Given the description of an element on the screen output the (x, y) to click on. 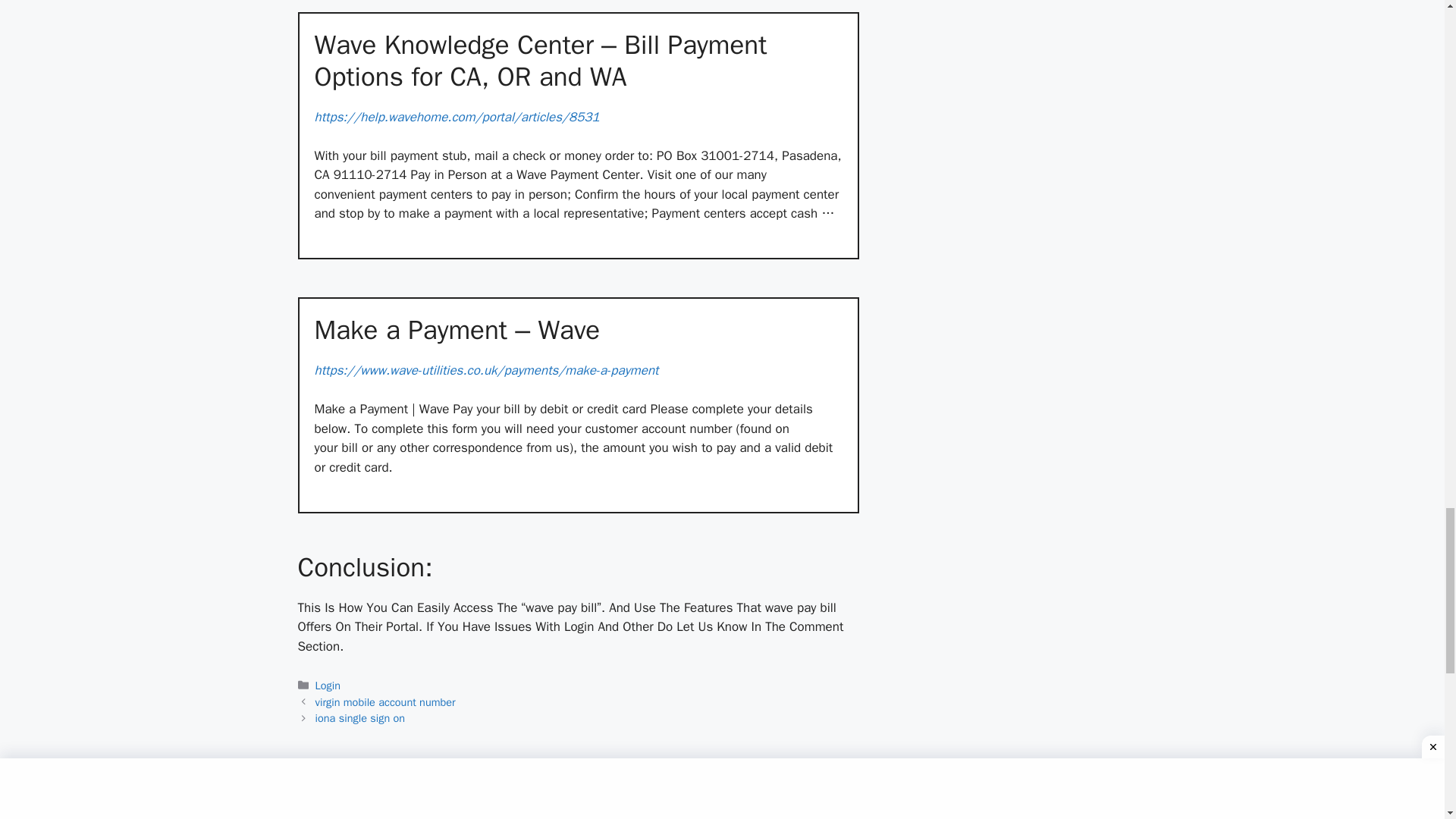
iona single sign on (360, 717)
Login (327, 685)
virgin mobile account number (385, 702)
